Given the description of an element on the screen output the (x, y) to click on. 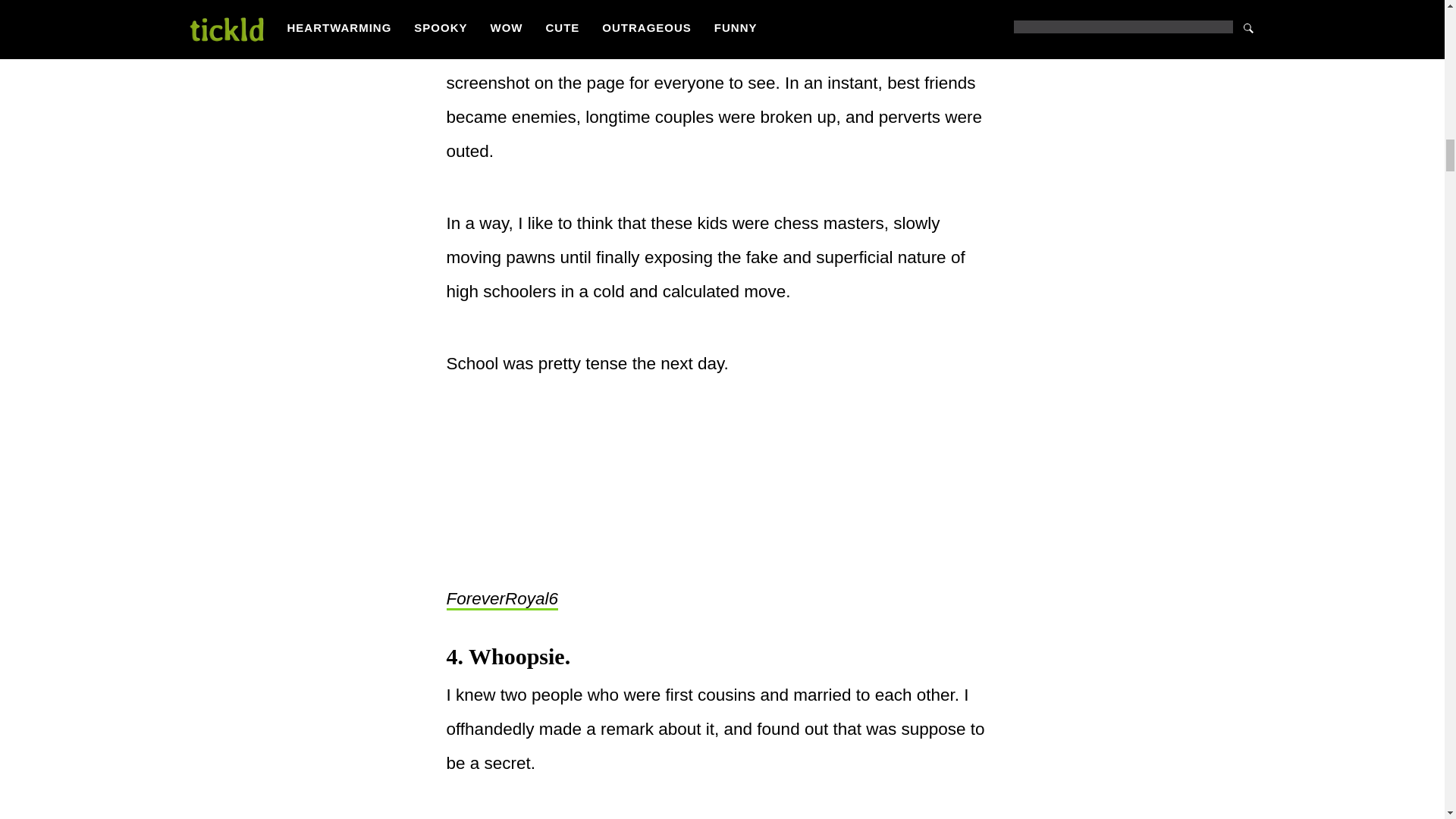
ForeverRoyal6 (501, 599)
